Given the description of an element on the screen output the (x, y) to click on. 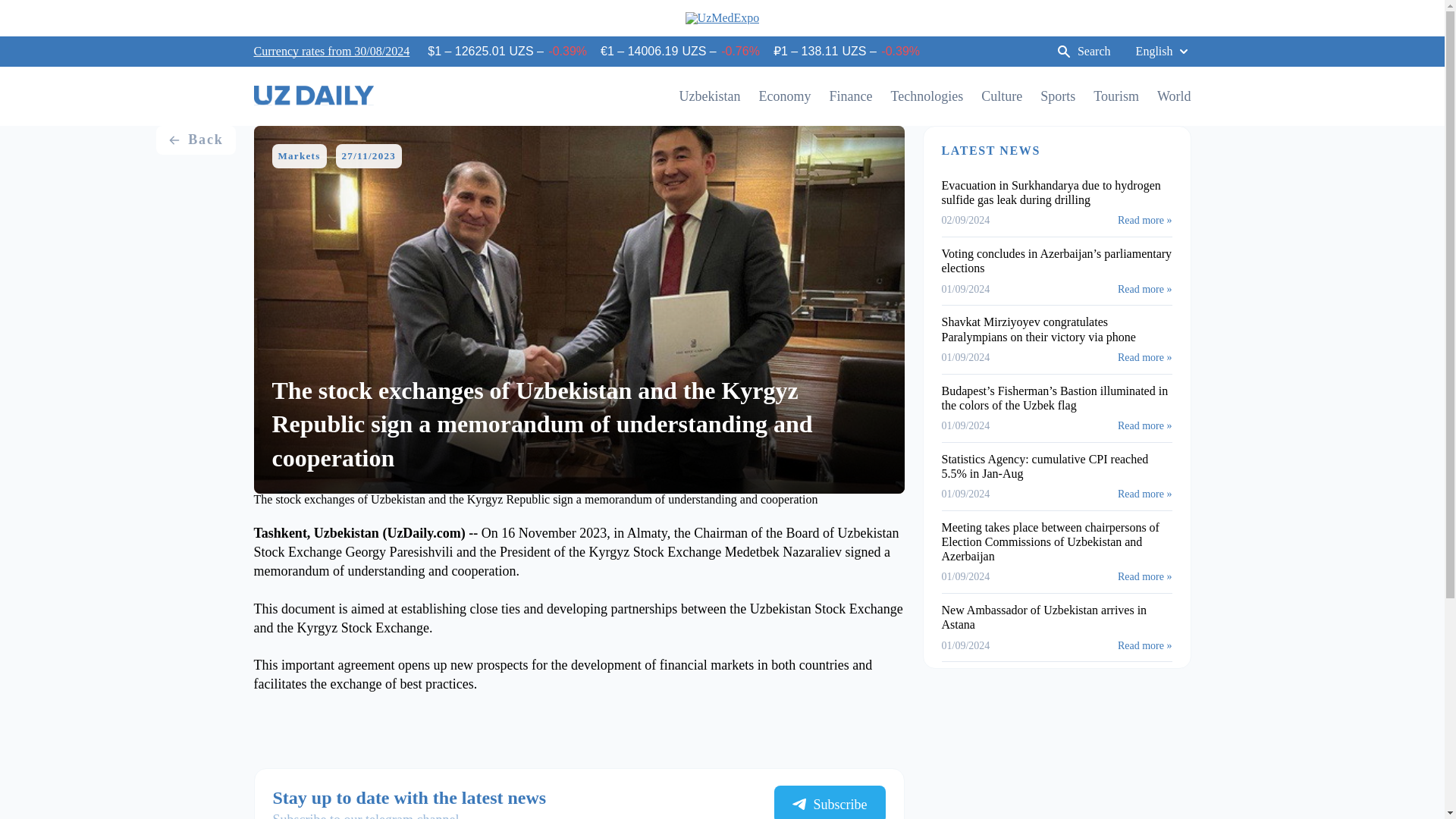
Technologies (925, 96)
Search (1082, 51)
Subscribe (829, 802)
Uzbekistan (710, 96)
Back (194, 140)
UzMedExpo (722, 18)
